Given the description of an element on the screen output the (x, y) to click on. 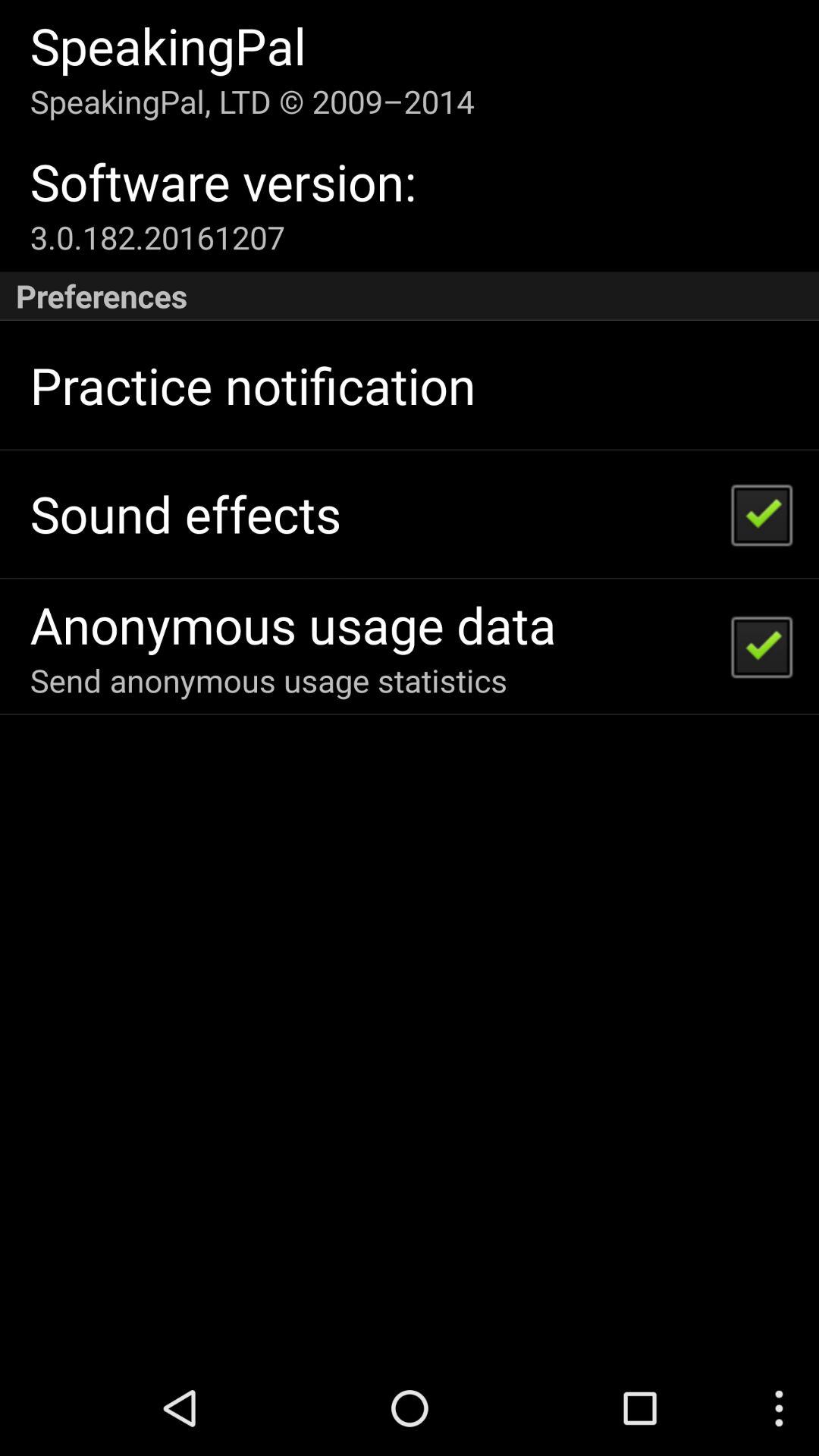
jump to practice notification icon (253, 385)
